Given the description of an element on the screen output the (x, y) to click on. 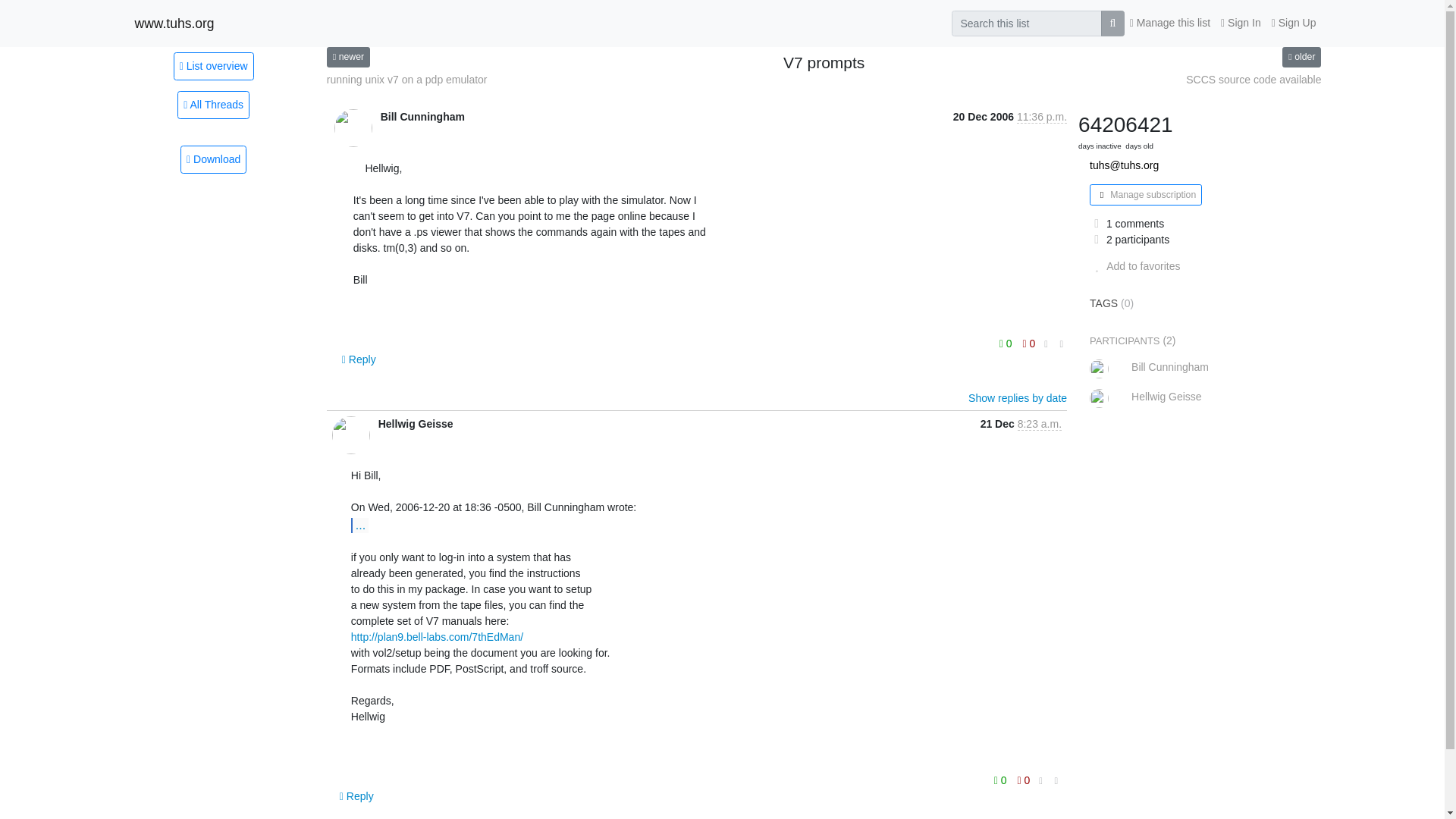
newer (347, 56)
www.tuhs.org (174, 22)
You must be logged-in to vote. (1007, 342)
Sender's time: Dec. 21, 2006, 9:23 a.m. (1039, 423)
Manage this list (1169, 22)
List overview (213, 65)
You must be logged-in to have favorites. (1134, 265)
SCCS source code available (1253, 79)
running unix v7 on a pdp emulator (406, 79)
Download (213, 159)
Sign In (1240, 22)
older (1301, 56)
You must be logged-in to vote. (1023, 780)
You must be logged-in to vote. (1001, 780)
This thread in gzipped mbox format (213, 159)
